Given the description of an element on the screen output the (x, y) to click on. 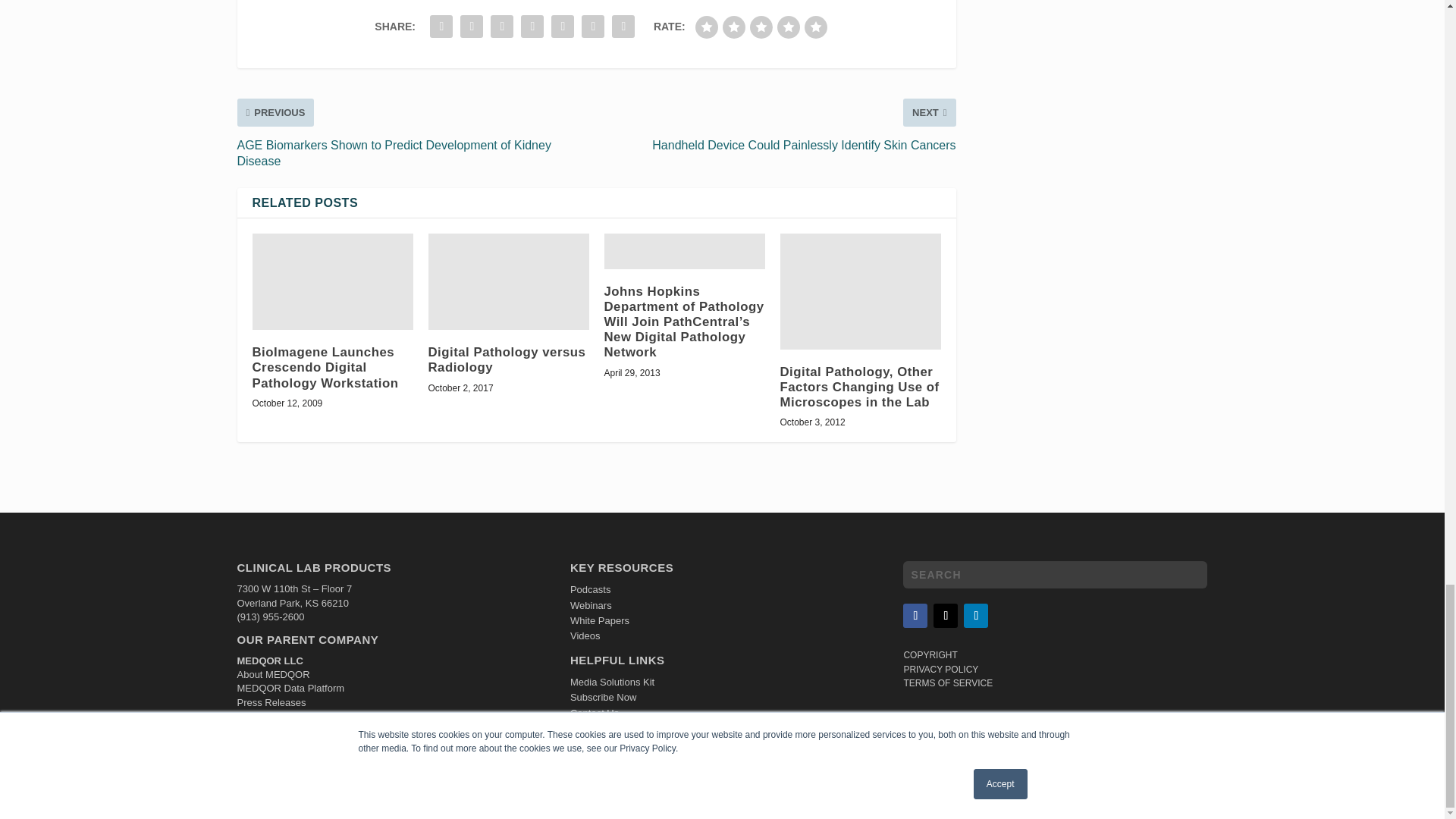
regular (761, 26)
poor (733, 26)
BioImagene Launches Crescendo Digital Pathology Workstation (331, 281)
good (788, 26)
Digital Pathology versus Radiology (508, 281)
bad (706, 26)
gorgeous (816, 26)
